Given the description of an element on the screen output the (x, y) to click on. 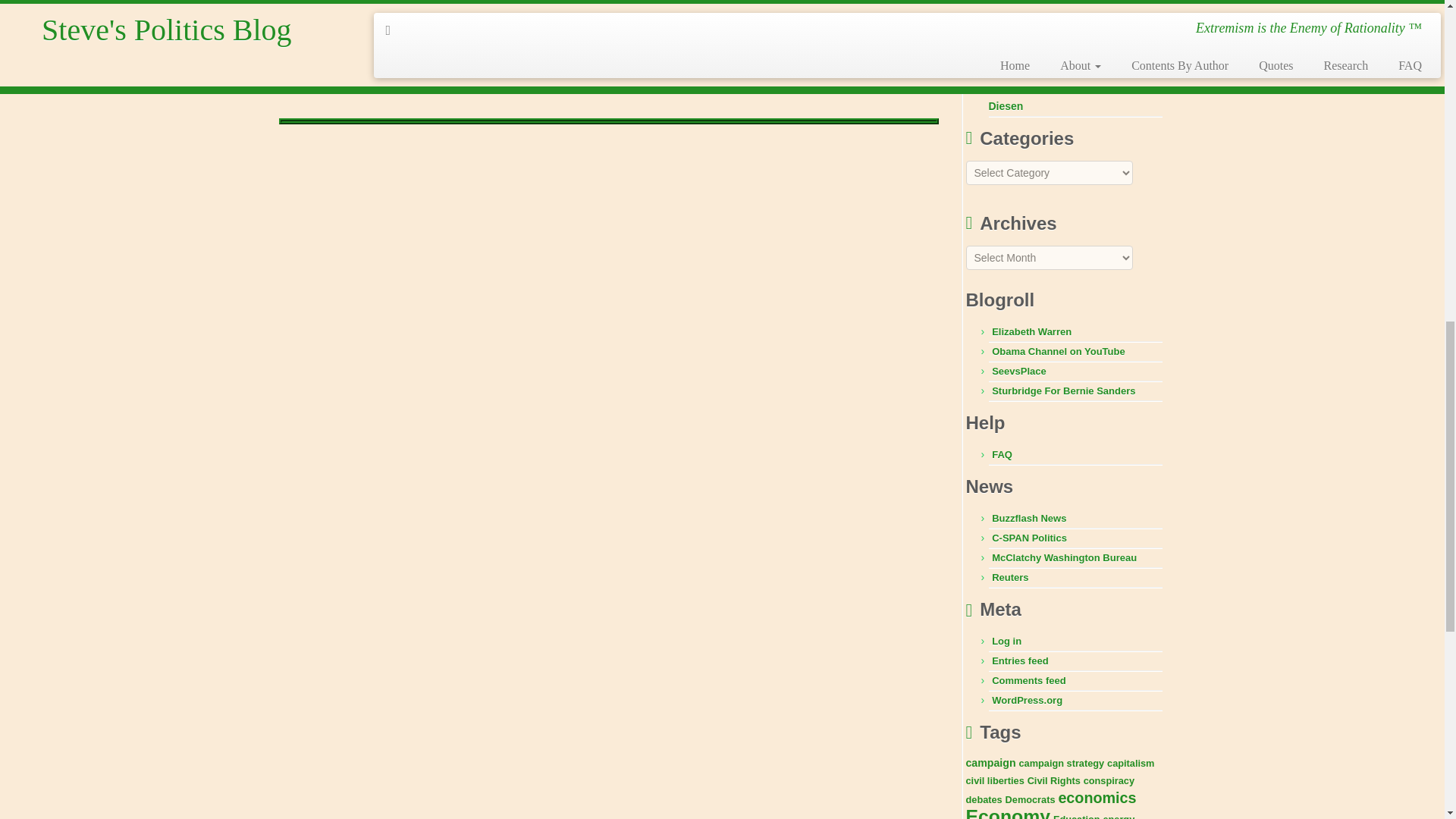
this link (332, 4)
Lawrence SUmmers' Article (332, 4)
